Given the description of an element on the screen output the (x, y) to click on. 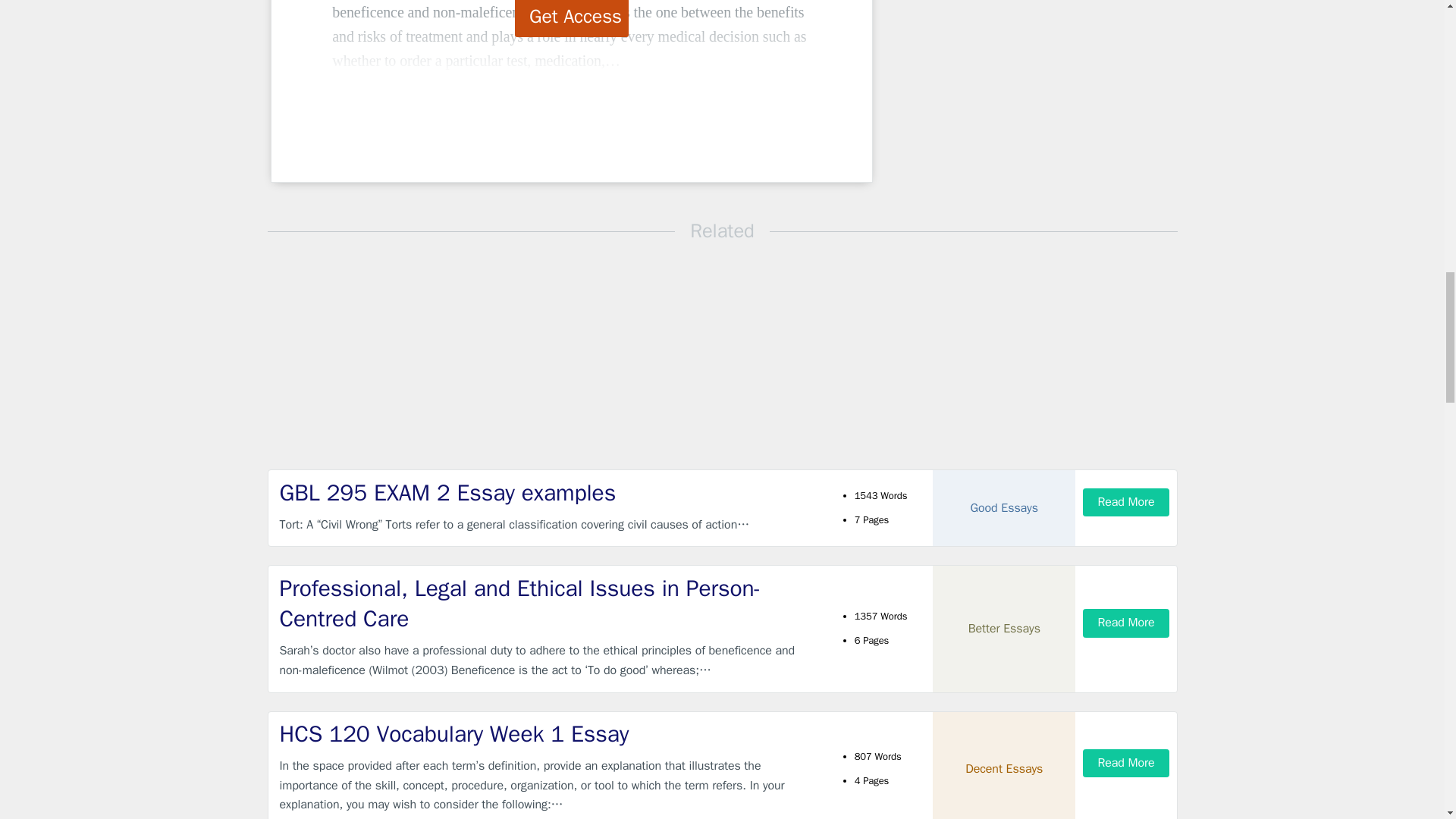
Read More (1126, 763)
Read More (1126, 502)
Read More (1126, 623)
Get Access (571, 18)
HCS 120 Vocabulary Week 1 Essay (548, 734)
GBL 295 EXAM 2 Essay examples (548, 492)
